Given the description of an element on the screen output the (x, y) to click on. 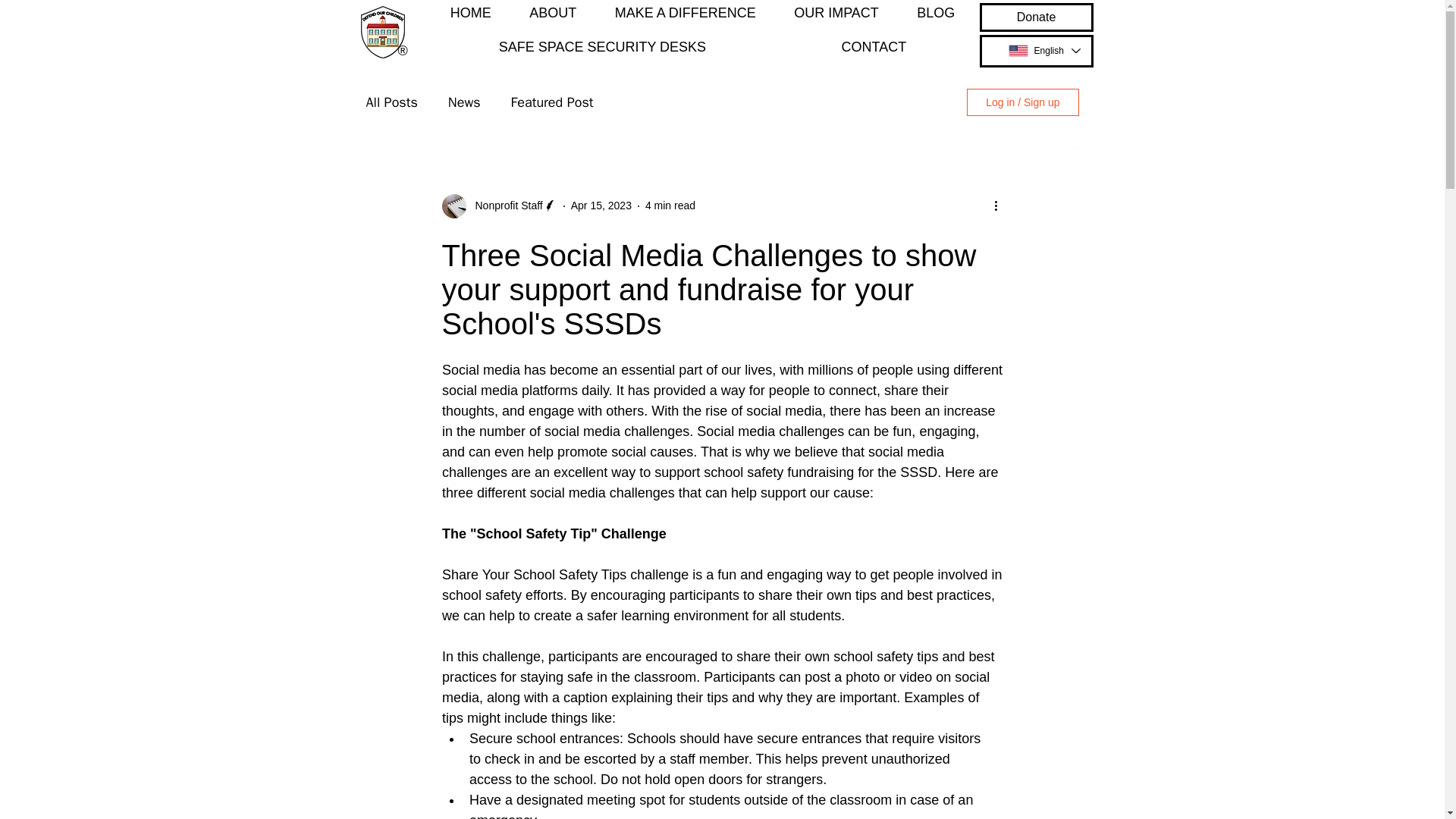
Nonprofit Staff (503, 205)
Donate (1036, 17)
CONTACT (873, 48)
News (464, 102)
All Posts (390, 102)
OUR IMPACT (836, 13)
Apr 15, 2023 (600, 205)
HOME (469, 13)
MAKE A DIFFERENCE (684, 13)
4 min read (670, 205)
SAFE SPACE SECURITY DESKS (601, 48)
BLOG (936, 13)
ABOUT (552, 13)
Featured Post (552, 102)
Nonprofit Staff (498, 206)
